Given the description of an element on the screen output the (x, y) to click on. 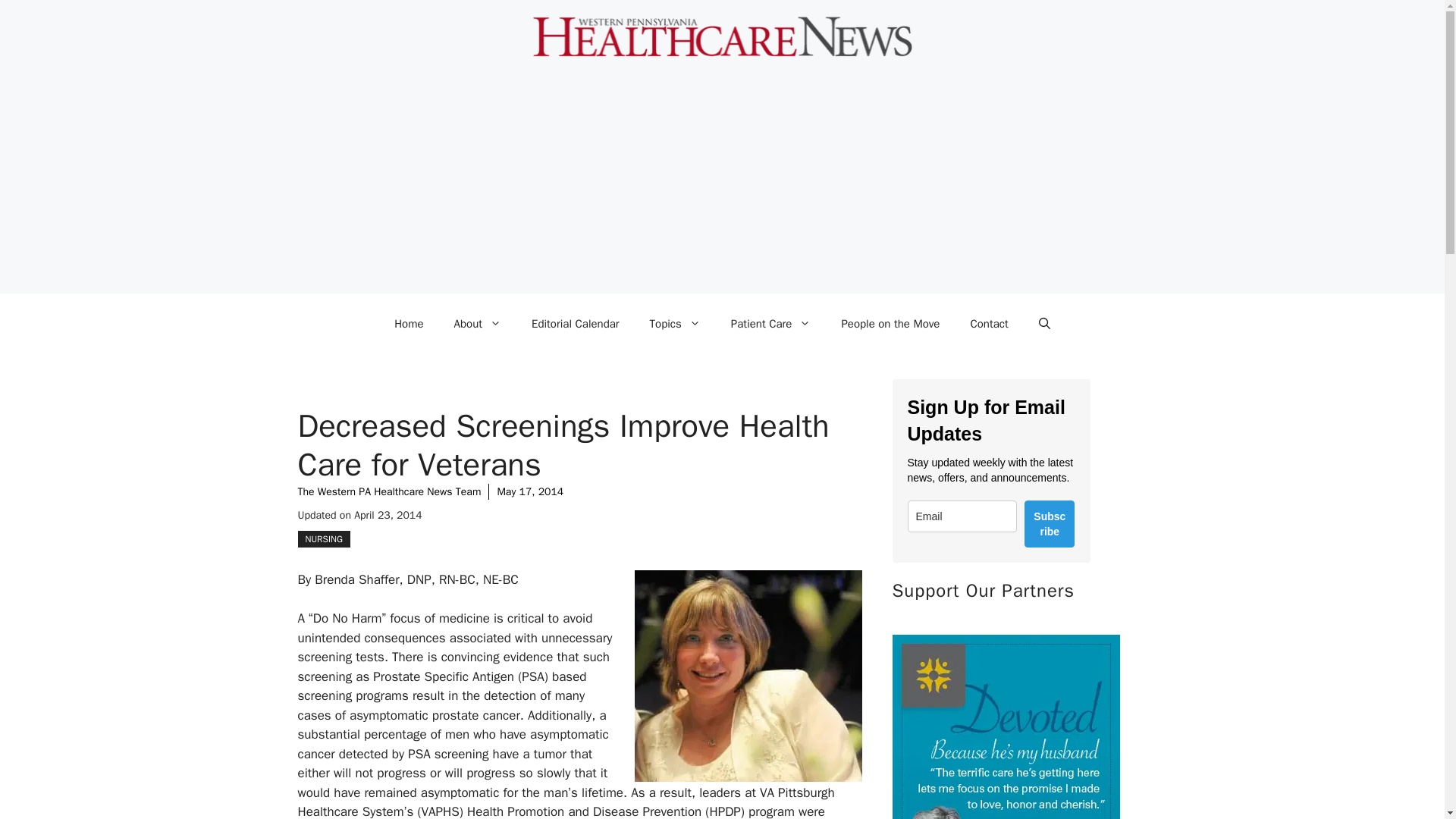
Contact (989, 323)
The Western PA Healthcare News Team (388, 491)
Home (408, 323)
Topics (675, 323)
Patient Care (771, 323)
NURSING (323, 538)
About (477, 323)
Editorial Calendar (575, 323)
People on the Move (890, 323)
